Given the description of an element on the screen output the (x, y) to click on. 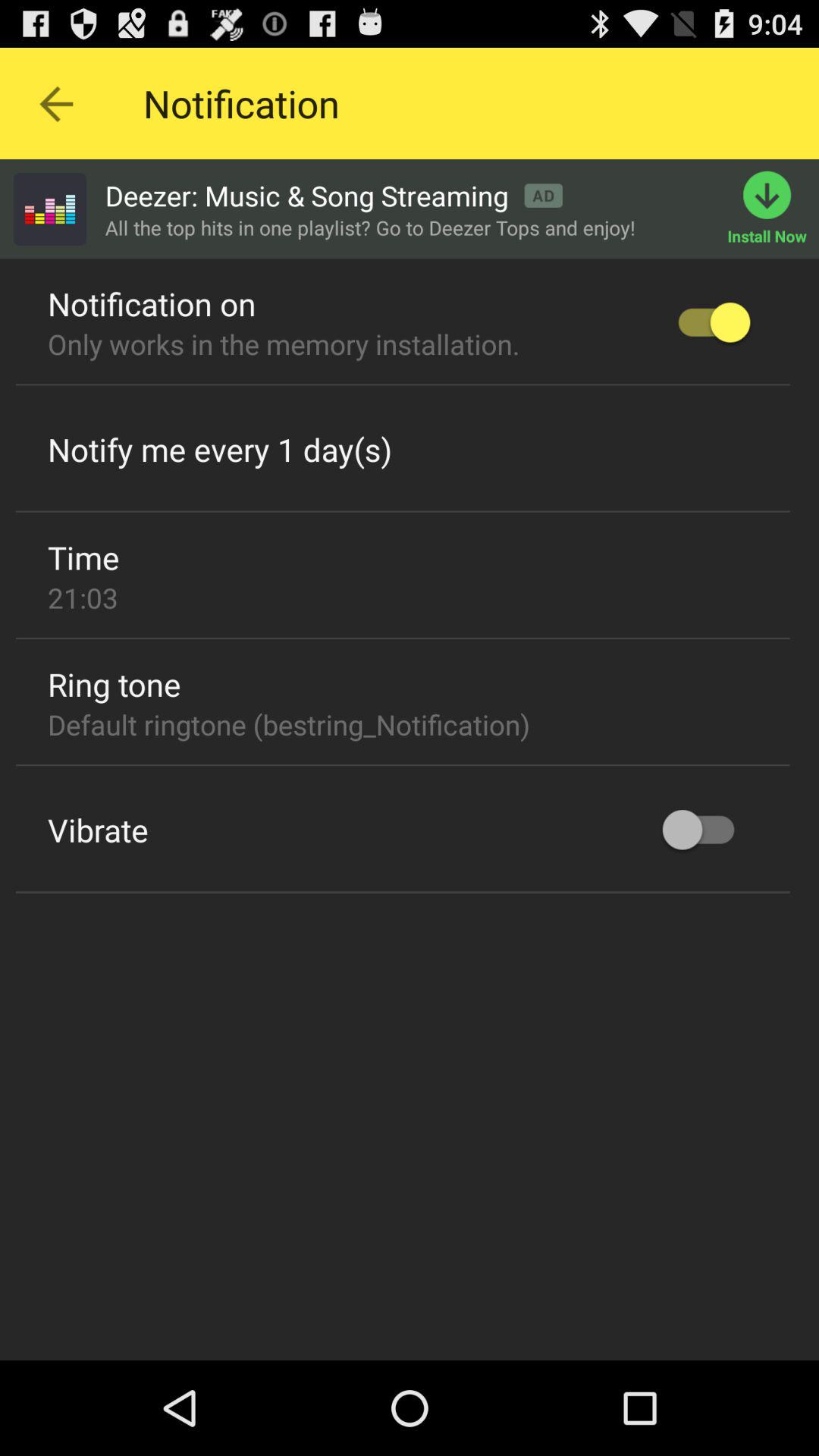
select item above the only works in item (151, 303)
